Given the description of an element on the screen output the (x, y) to click on. 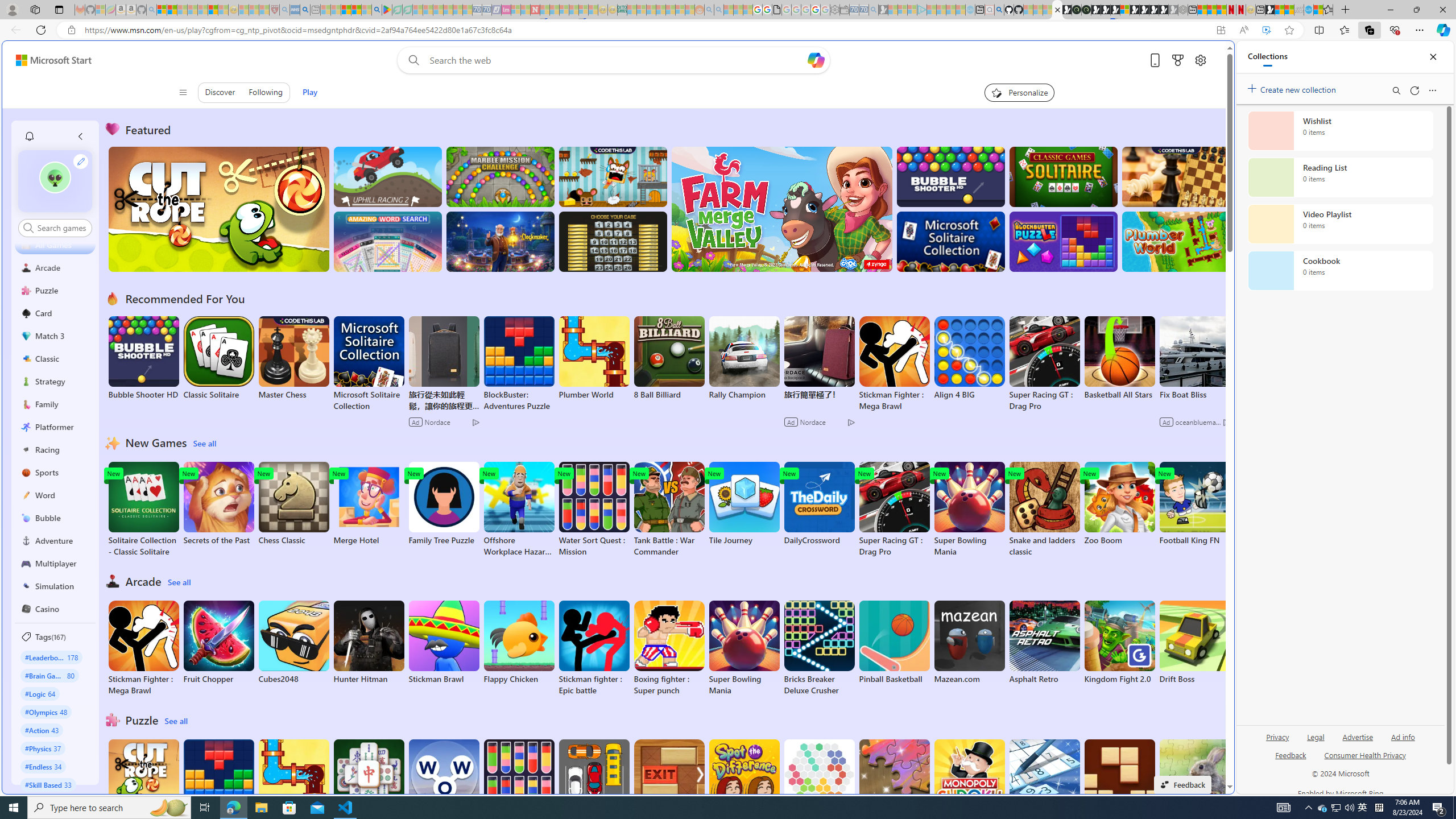
utah sues federal government - Search (304, 9)
Merge Hotel (368, 503)
Align 4 BIG (968, 358)
#Physics 37 (42, 748)
Flappy Chicken (518, 642)
Asphalt Retro (1044, 642)
Future Focus Report 2024 (1085, 9)
